Given the description of an element on the screen output the (x, y) to click on. 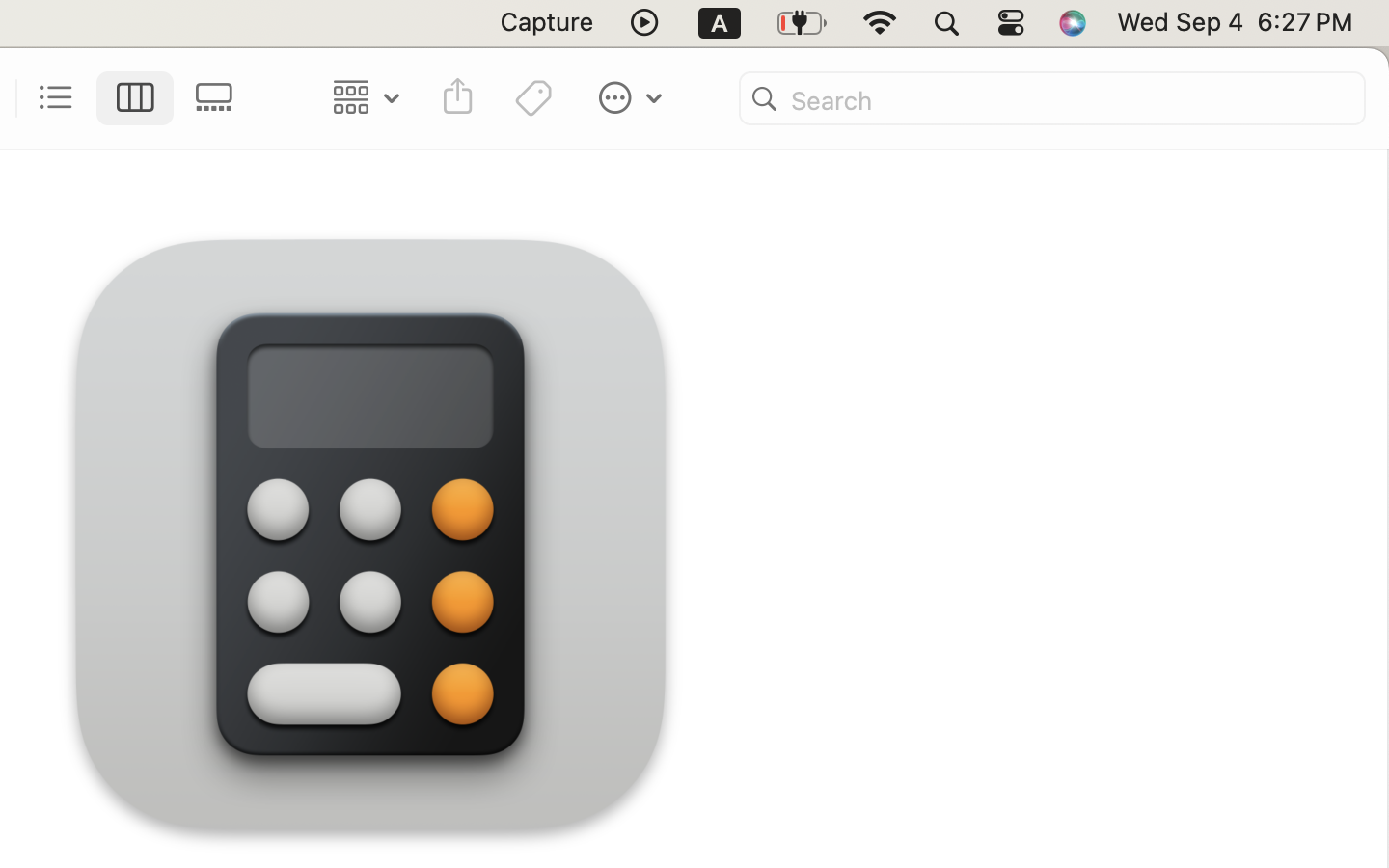
0 Element type: AXRadioButton (219, 97)
1 Element type: AXRadioButton (135, 97)
